Given the description of an element on the screen output the (x, y) to click on. 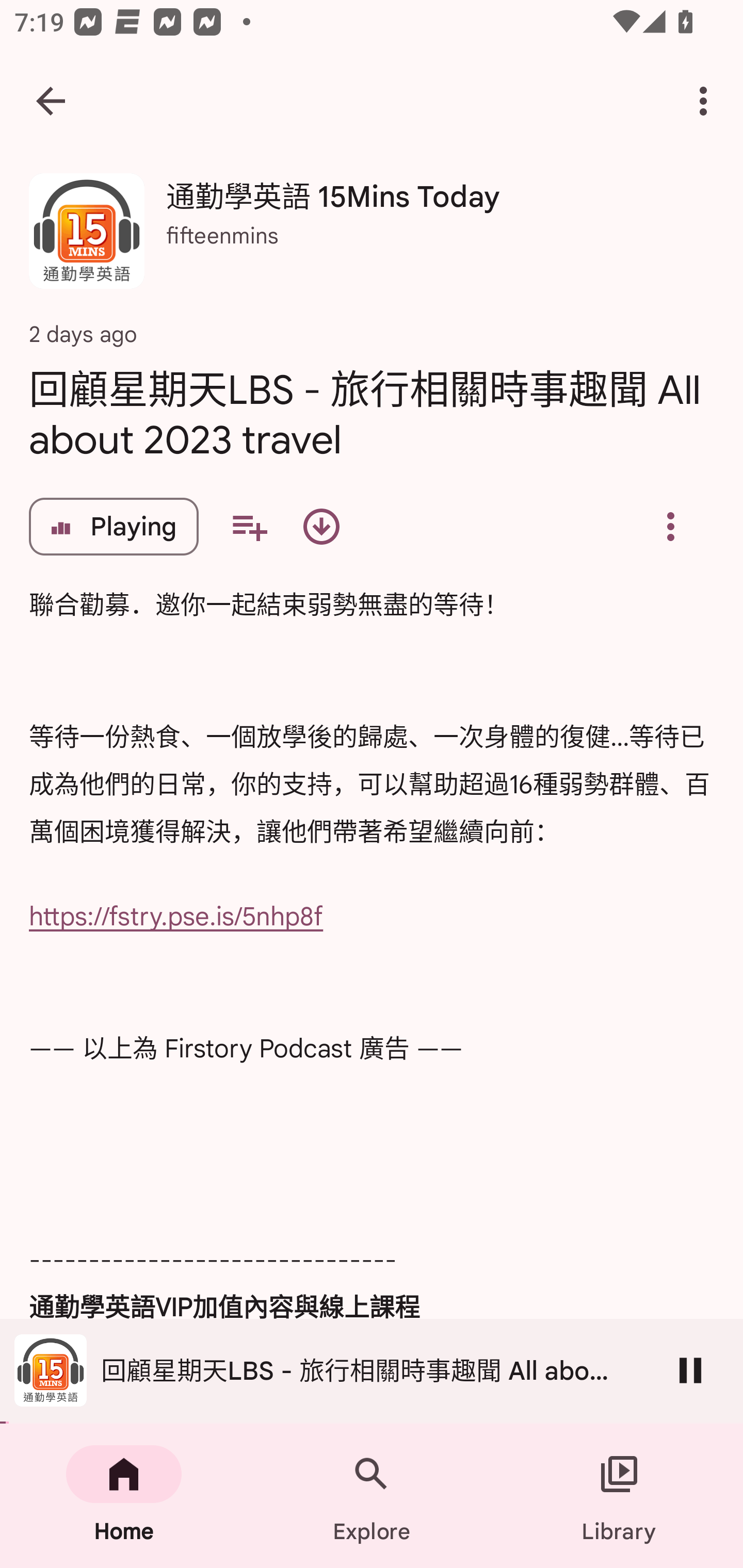
Navigate up (50, 101)
More options (706, 101)
通勤學英語 15Mins Today 通勤學英語 15Mins Today fifteenmins (371, 238)
Add to your queue (249, 525)
Download episode (321, 525)
Overflow menu (670, 525)
Pause (690, 1370)
Explore (371, 1495)
Library (619, 1495)
